Given the description of an element on the screen output the (x, y) to click on. 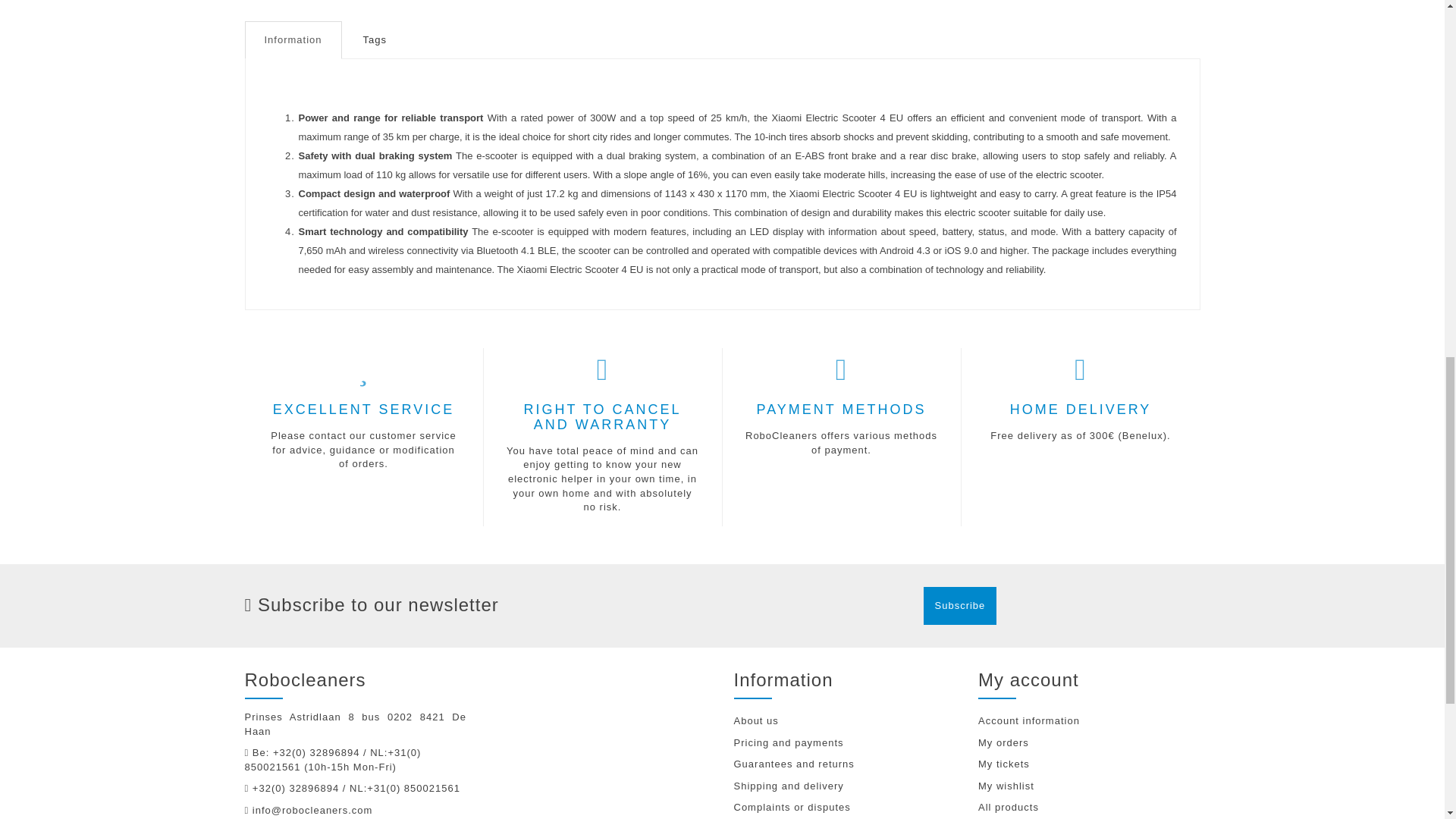
Guarantees and returns (844, 764)
My wishlist (1088, 786)
Complaints or disputes (844, 807)
Account information (1088, 721)
My tickets (1088, 764)
About us (844, 721)
Subscribe (960, 605)
Pricing and payments (844, 743)
My orders (1088, 743)
Shipping and delivery (844, 786)
